Given the description of an element on the screen output the (x, y) to click on. 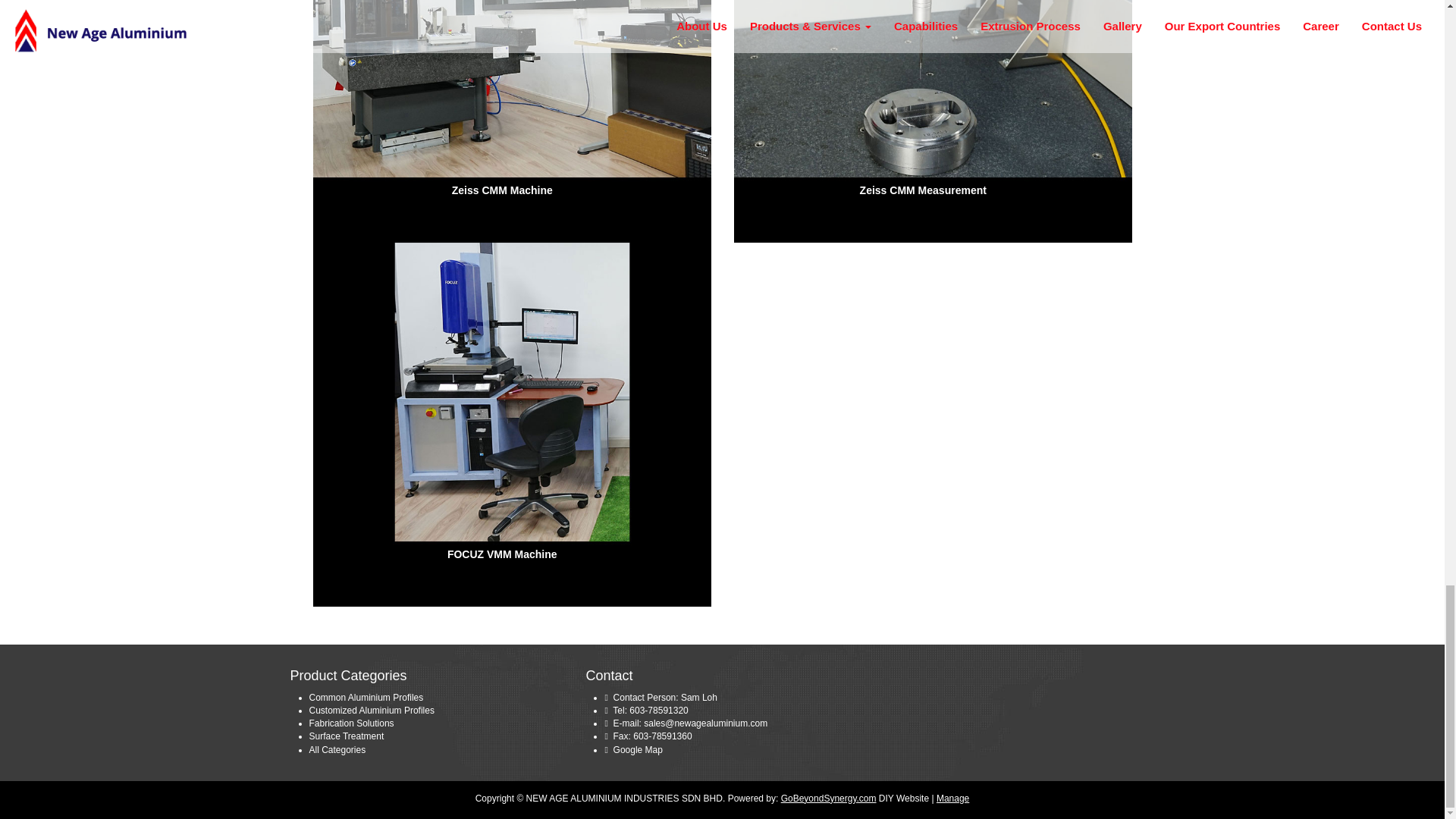
603-78591320 (736, 710)
Customized Aluminium Profiles (370, 710)
Common Aluminium Profiles (365, 697)
Common Aluminium Profiles (365, 697)
Customized Aluminium Profiles (370, 710)
Fabrication Solutions (351, 723)
GoBeyondSynergy.com (828, 798)
Google Map (637, 749)
Surface Treatment (346, 736)
Surface Treatment (346, 736)
